Given the description of an element on the screen output the (x, y) to click on. 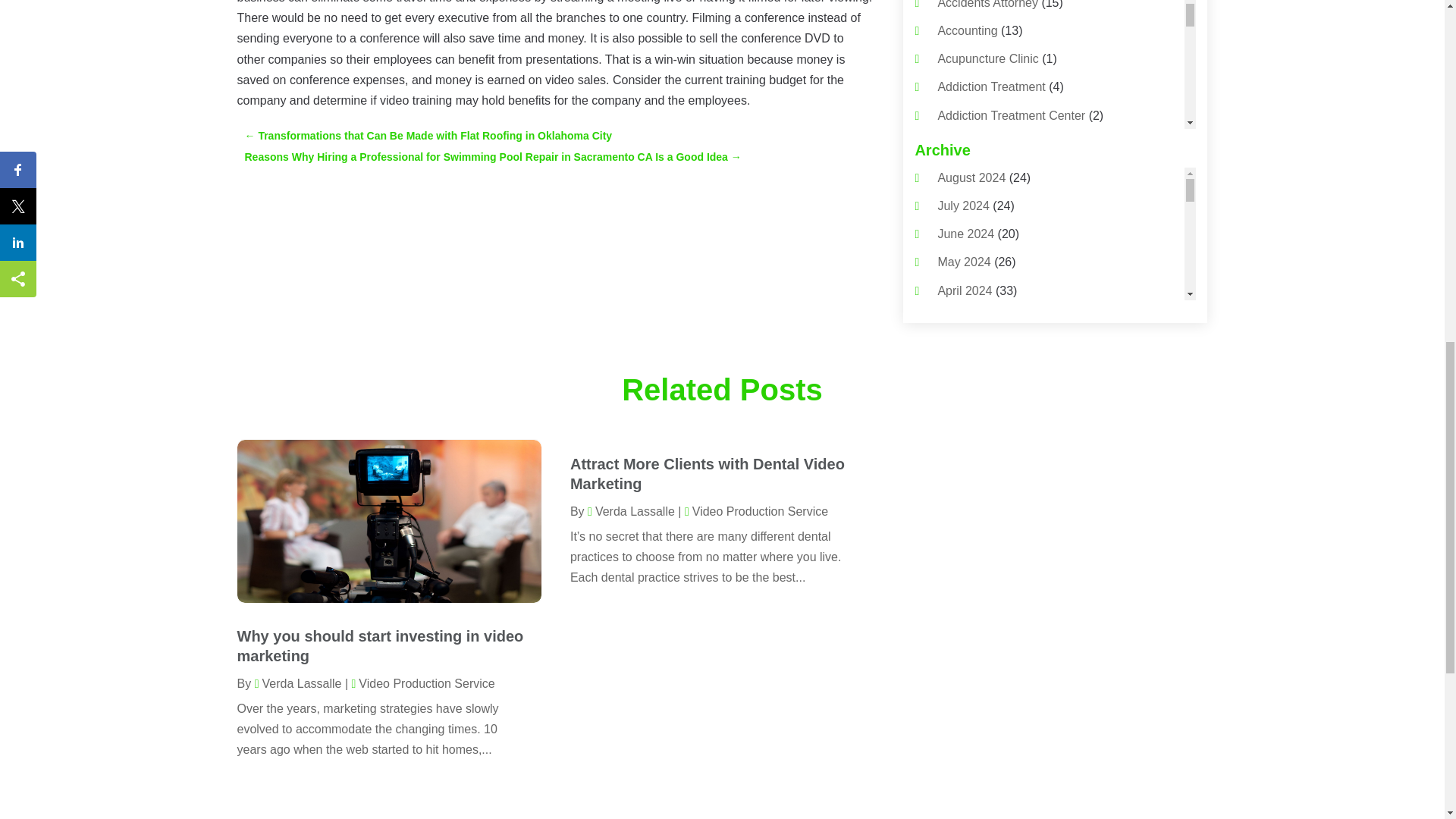
Accounting (967, 30)
Adjustable Height Sink (998, 171)
Posts by Verda Lassalle (631, 511)
Accidents Attorney (987, 4)
Agricultural (967, 256)
Agricultural Service (989, 284)
Agriculture And Forestry (1002, 312)
Advertising Agency (989, 227)
Addiction Treatment Center (1010, 115)
Addiction Treatment (991, 86)
